Given the description of an element on the screen output the (x, y) to click on. 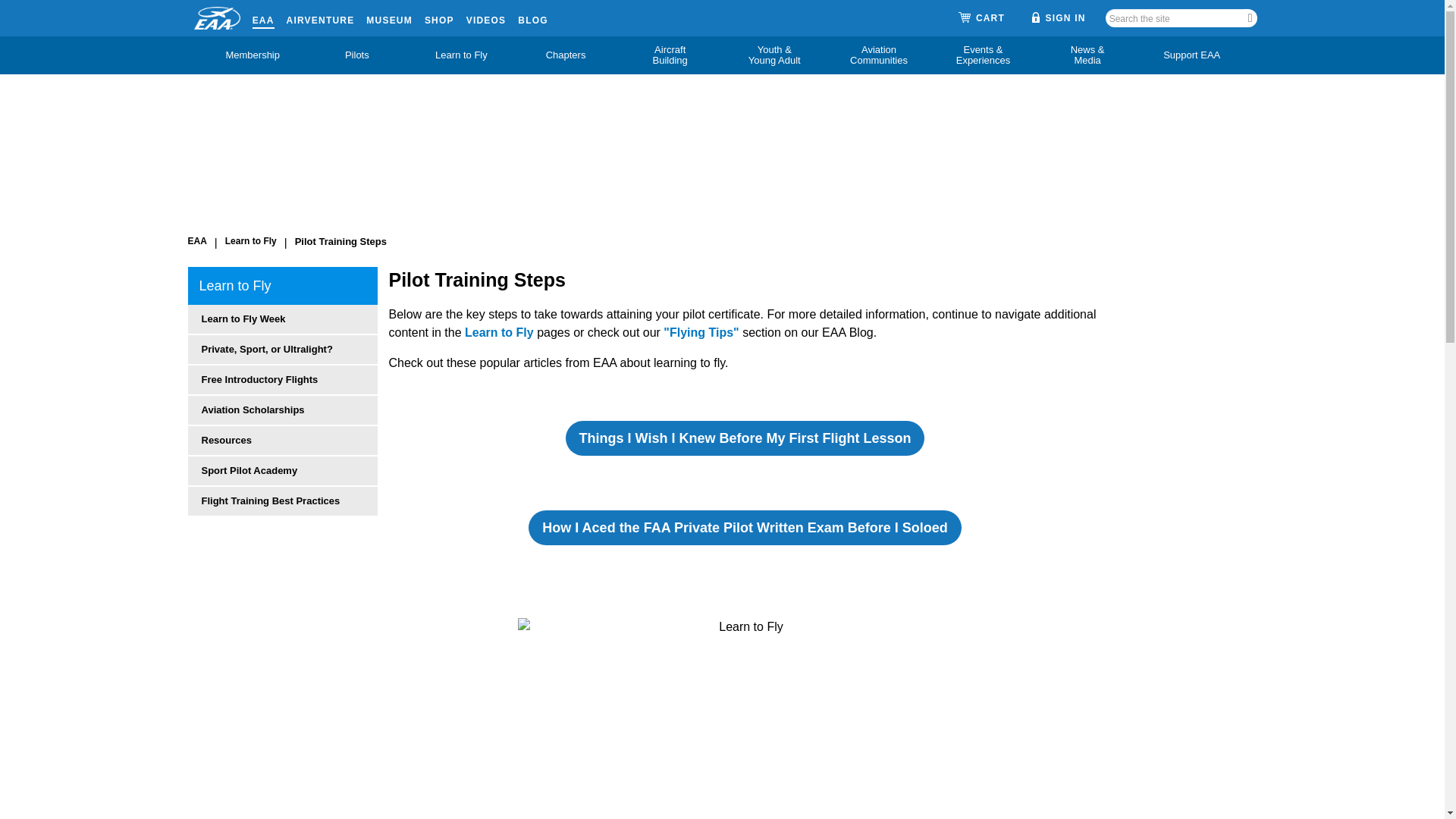
EAA (263, 17)
VIDEOS (485, 17)
CART (980, 18)
SIGN IN (1059, 18)
SHOP (439, 17)
MUSEUM (389, 17)
BLOG (532, 17)
AIRVENTURE (320, 17)
